Given the description of an element on the screen output the (x, y) to click on. 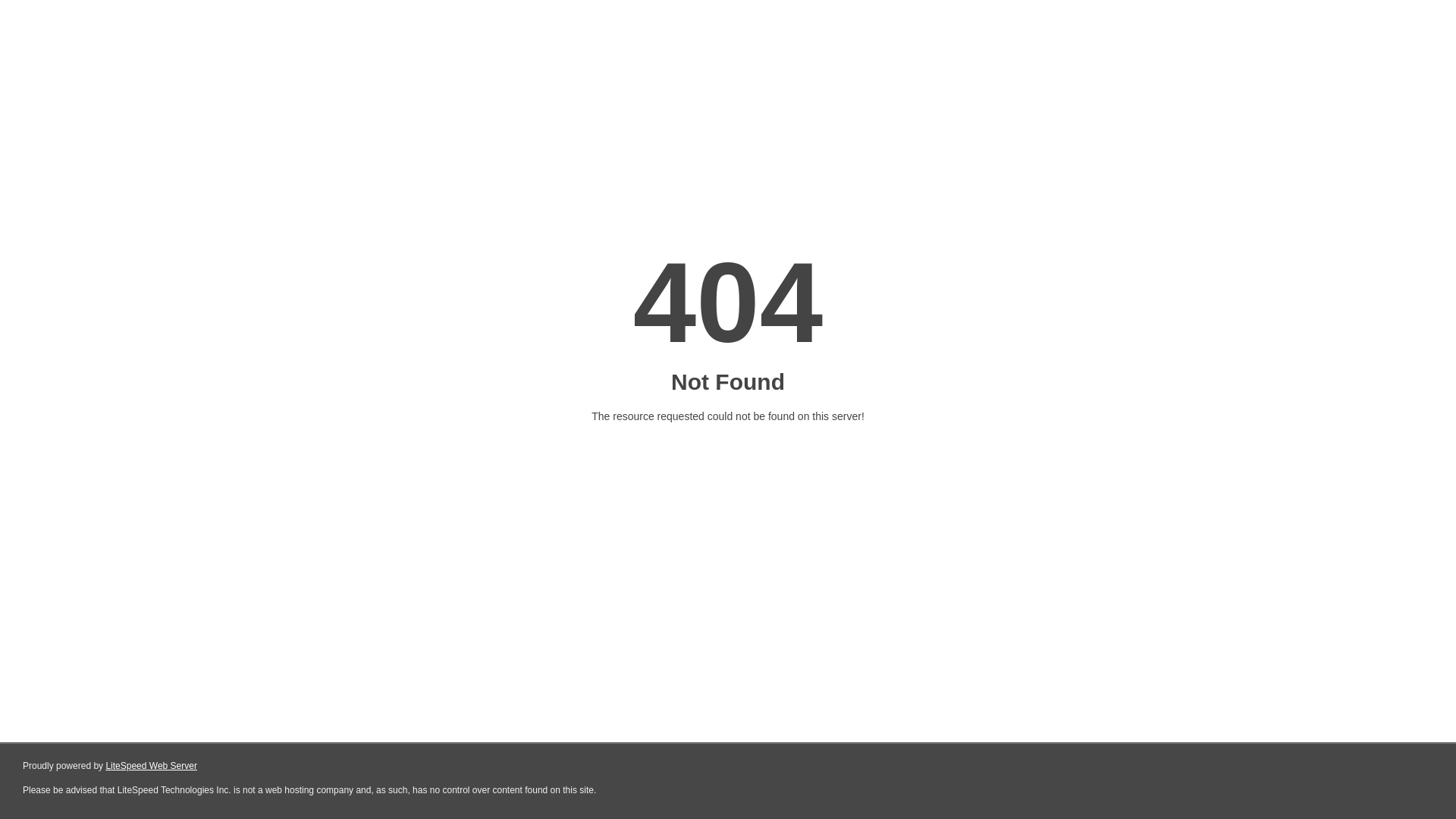
LiteSpeed Web Server Element type: text (151, 765)
